Given the description of an element on the screen output the (x, y) to click on. 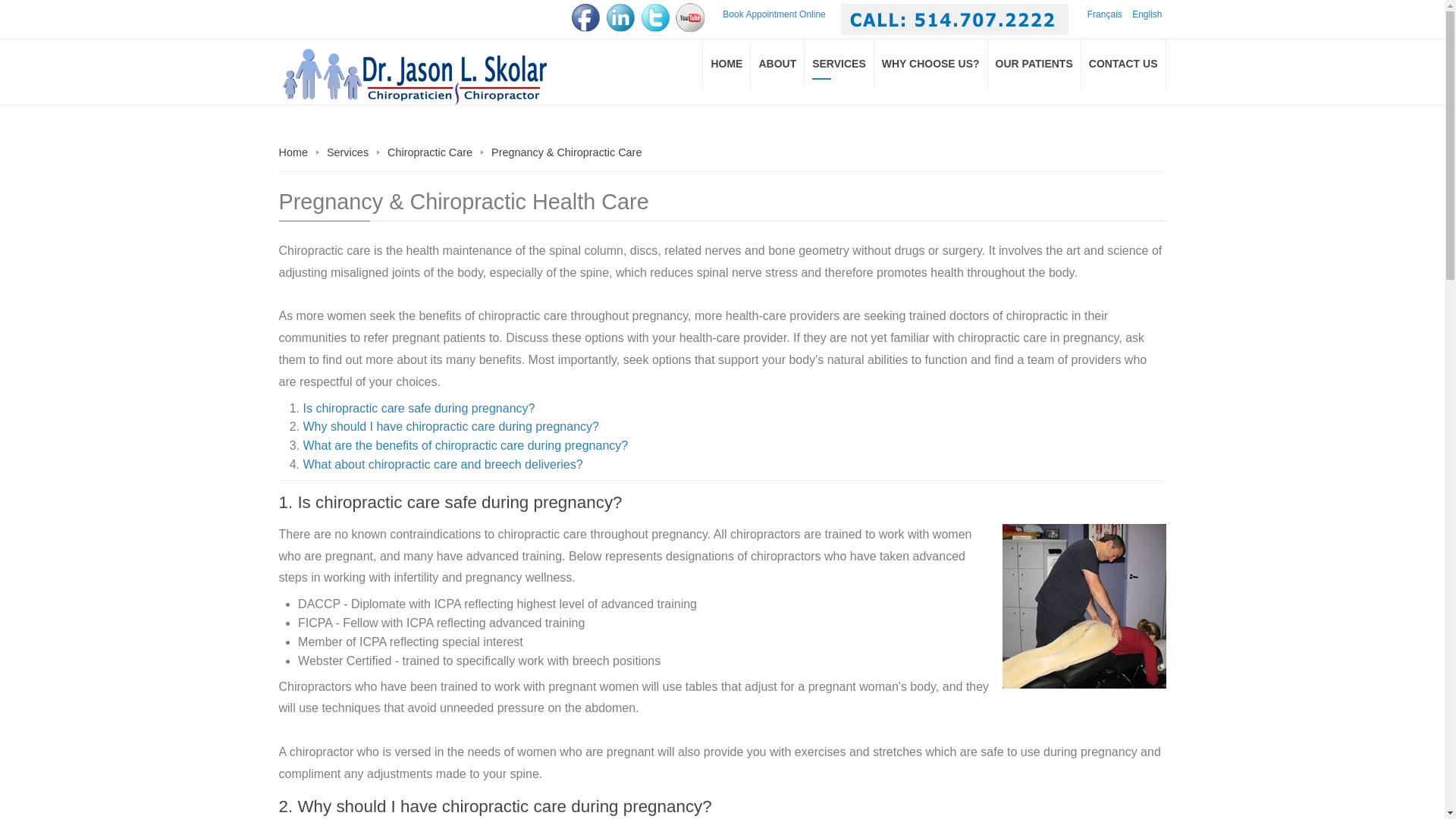
YouTube (689, 17)
HOME (726, 63)
LinkedIn (619, 17)
English (1146, 14)
CONTACT US (1123, 63)
Call: 514.707.2222 (954, 19)
WHY CHOOSE US? (931, 63)
Twitter (654, 17)
ABOUT (778, 63)
Facebook (584, 17)
SERVICES (840, 63)
OUR PATIENTS (1034, 63)
Book Appointment Online (773, 14)
